Given the description of an element on the screen output the (x, y) to click on. 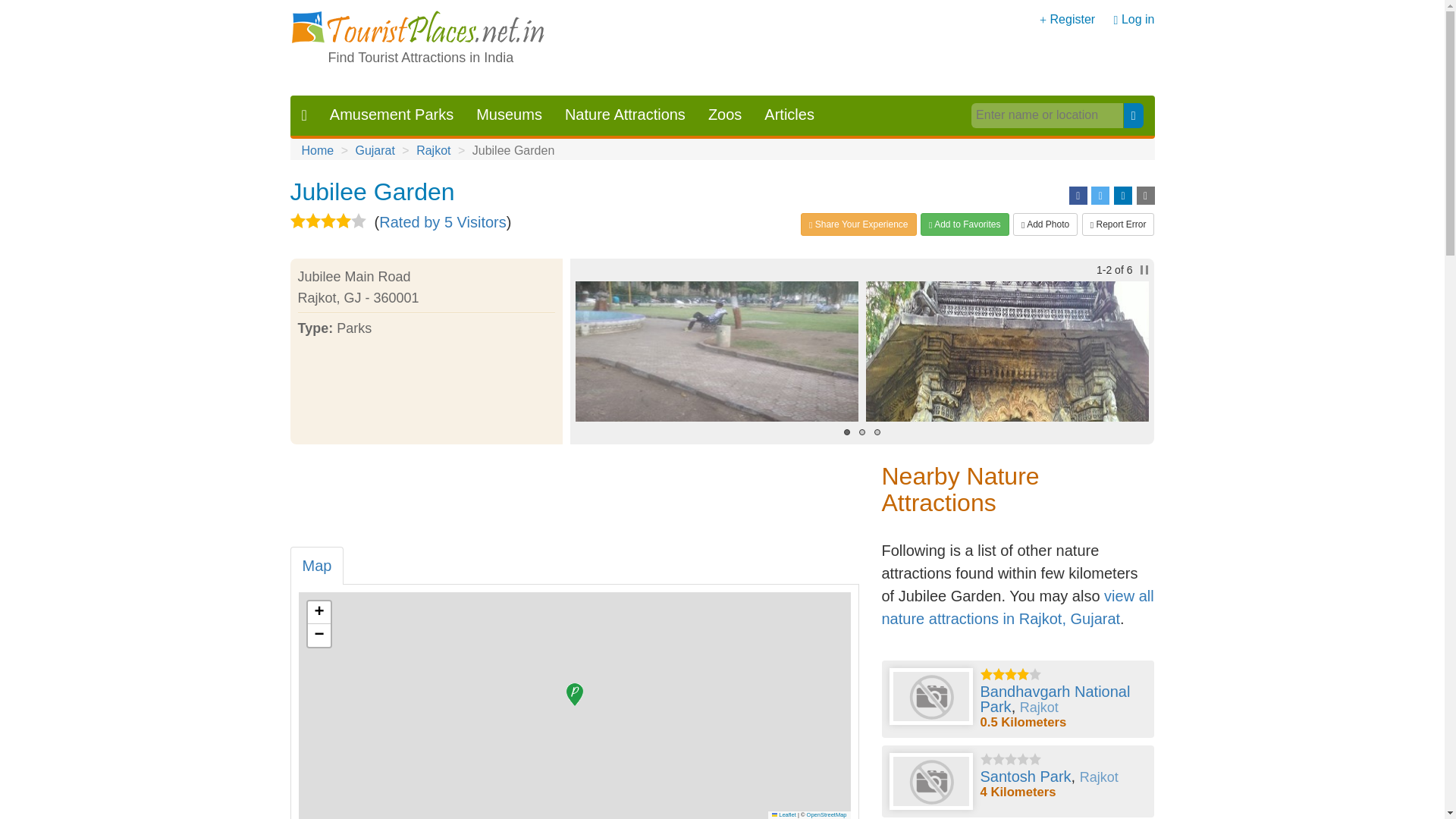
Nature Attractions (625, 114)
Articles (788, 114)
Gujarat (374, 150)
www.touristplaces.net.in (417, 29)
somebody : (1007, 351)
Share your experience of visiting Jubilee Garden with others (857, 223)
Add to Favorites (964, 223)
Log in (1137, 19)
Add Jubilee Garden to your favorite destinations. (964, 223)
Rated by 5 Visitors (442, 221)
